Given the description of an element on the screen output the (x, y) to click on. 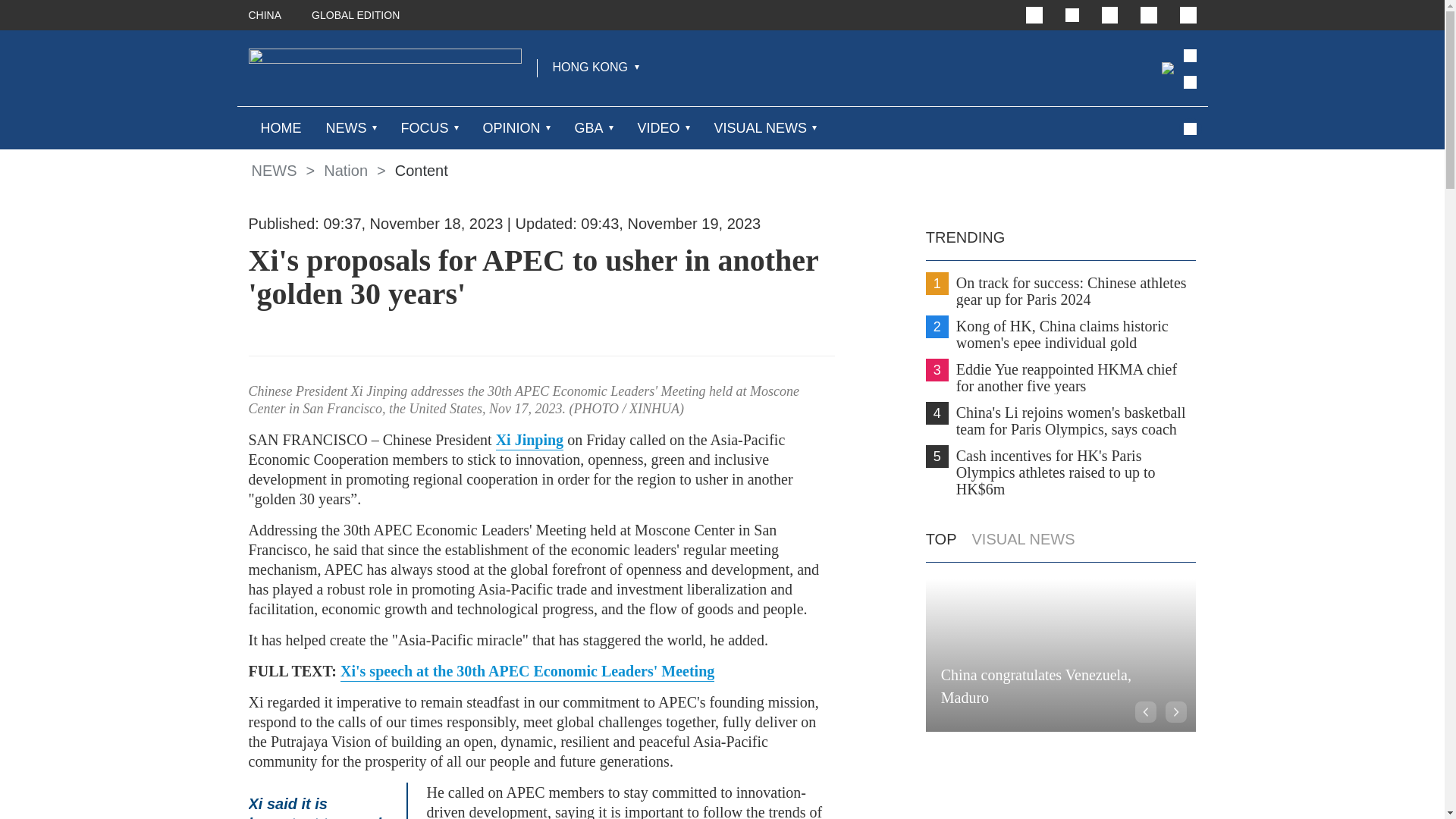
GLOBAL EDITION (354, 15)
HOME (280, 127)
OPINION (510, 127)
CHINA (265, 15)
GBA (589, 127)
